Given the description of an element on the screen output the (x, y) to click on. 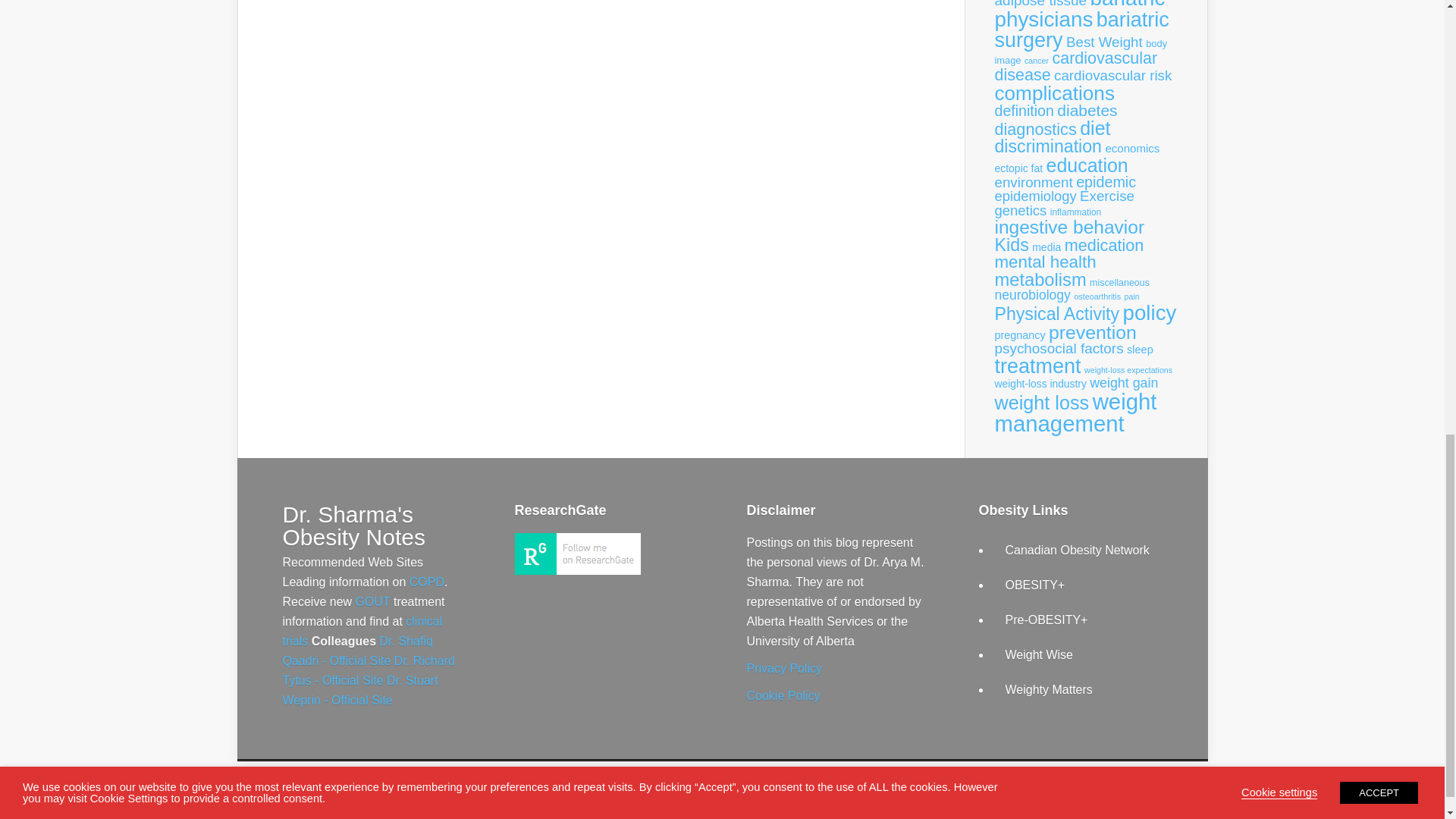
definition (1024, 110)
education (1087, 165)
Gout Institute (372, 601)
economics (1131, 147)
Weighty Matters (1049, 689)
diagnostics (1035, 128)
diabetes (1086, 109)
cancer (1036, 60)
cardiovascular disease (1075, 66)
Best Weight (1103, 41)
bariatric physicians (1080, 15)
COPD (426, 581)
complications (1054, 92)
Arya Mitra Sharma (576, 570)
cardiovascular risk (1113, 75)
